Given the description of an element on the screen output the (x, y) to click on. 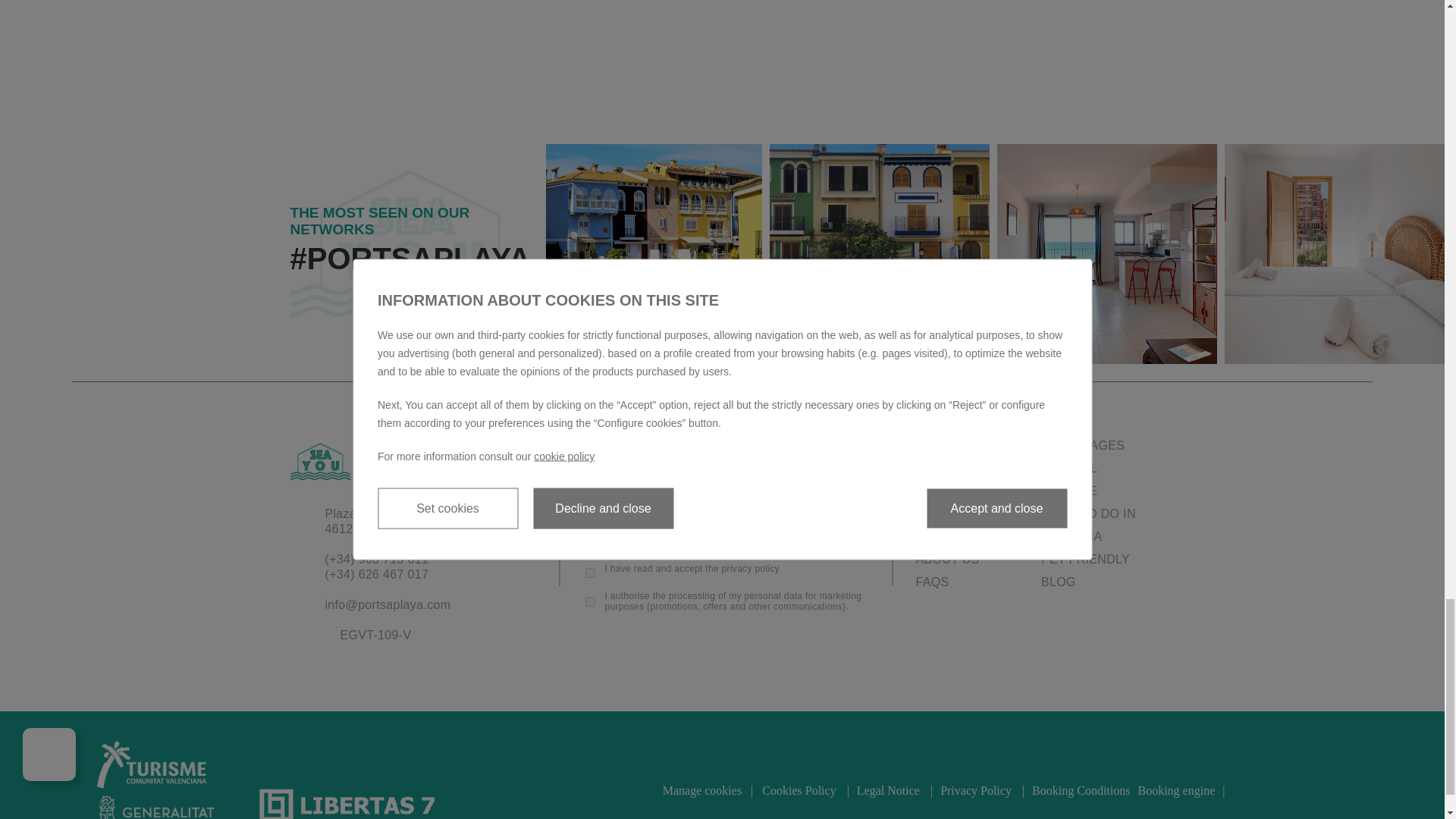
None (880, 253)
privacy (590, 601)
privacy (590, 572)
None (1107, 253)
None (651, 253)
